Given the description of an element on the screen output the (x, y) to click on. 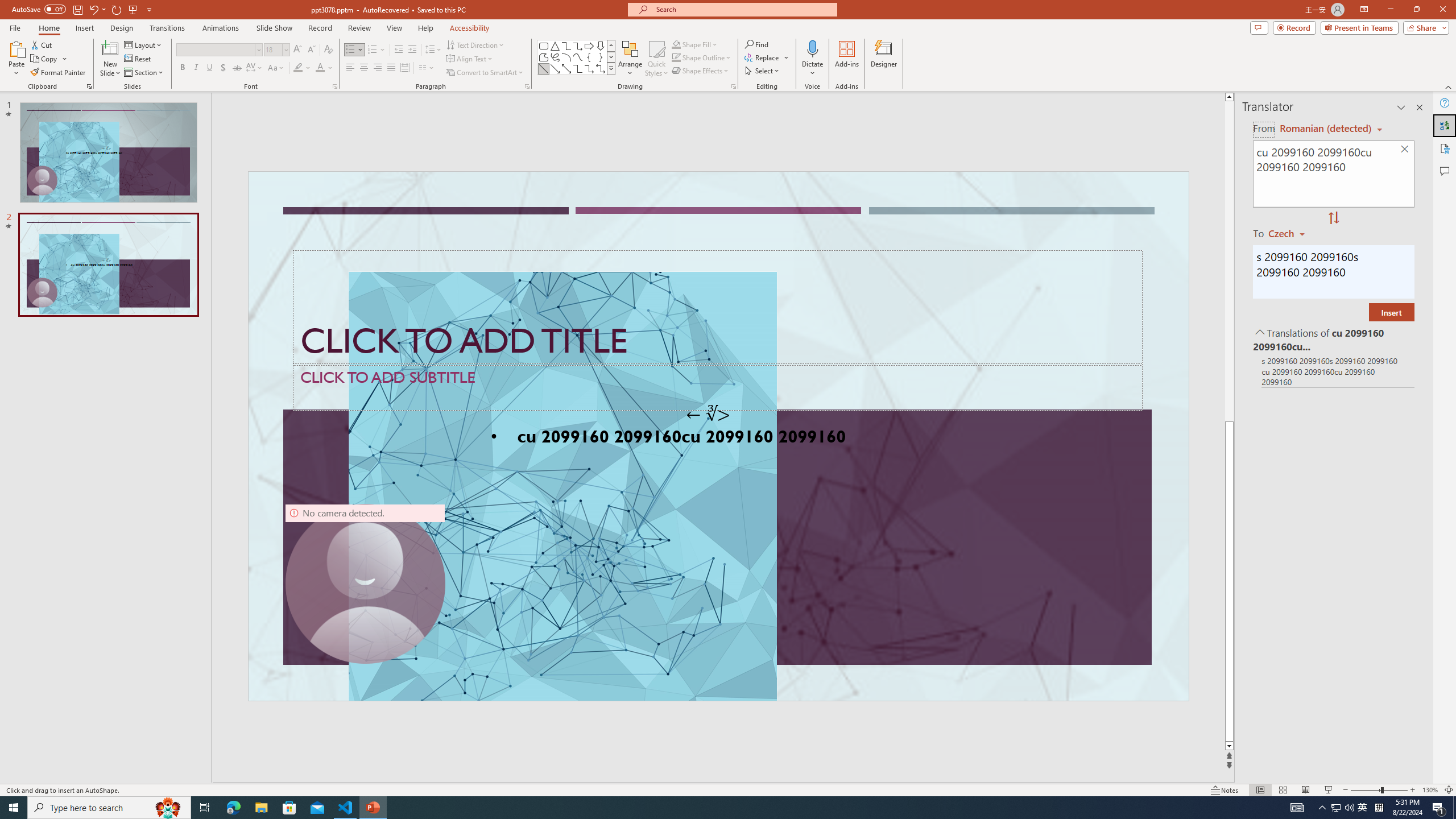
TextBox 7 (708, 414)
